Given the description of an element on the screen output the (x, y) to click on. 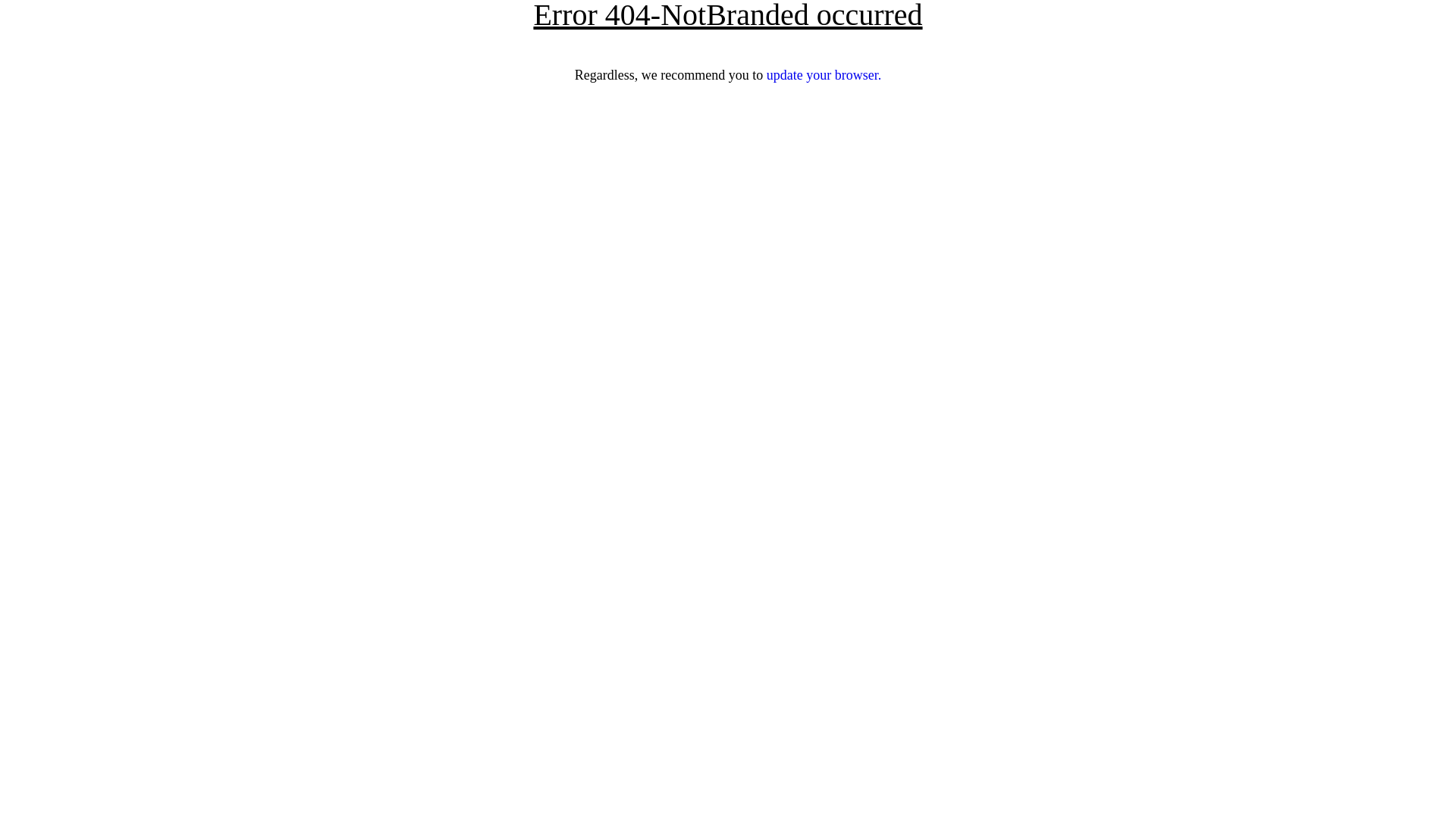
update your browser. Element type: text (823, 74)
